Given the description of an element on the screen output the (x, y) to click on. 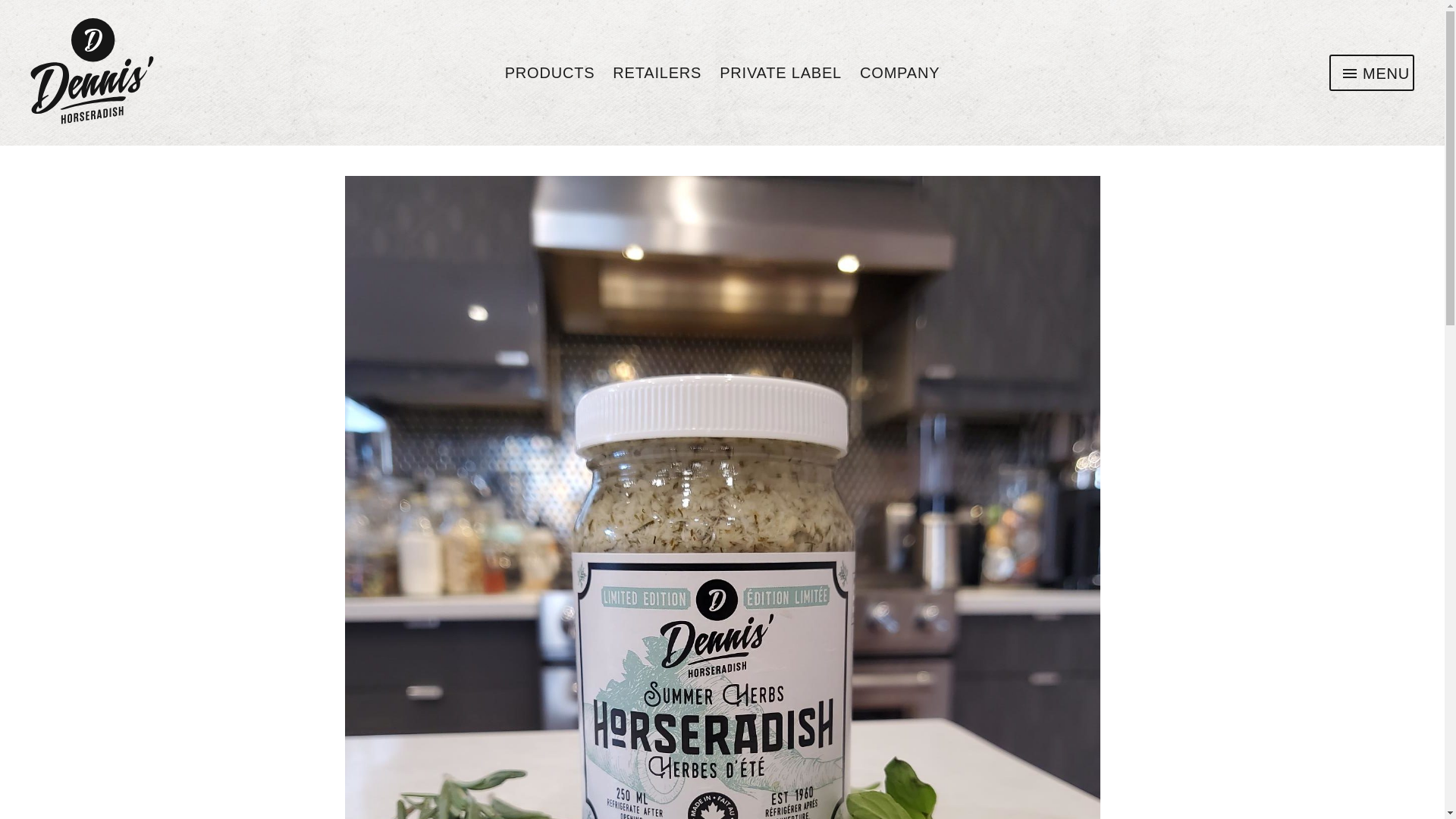
Dennis Conference Home (202, 72)
RETAILERS (656, 72)
COMPANY (899, 72)
PRIVATE LABEL (1375, 73)
PRODUCTS (780, 72)
